Given the description of an element on the screen output the (x, y) to click on. 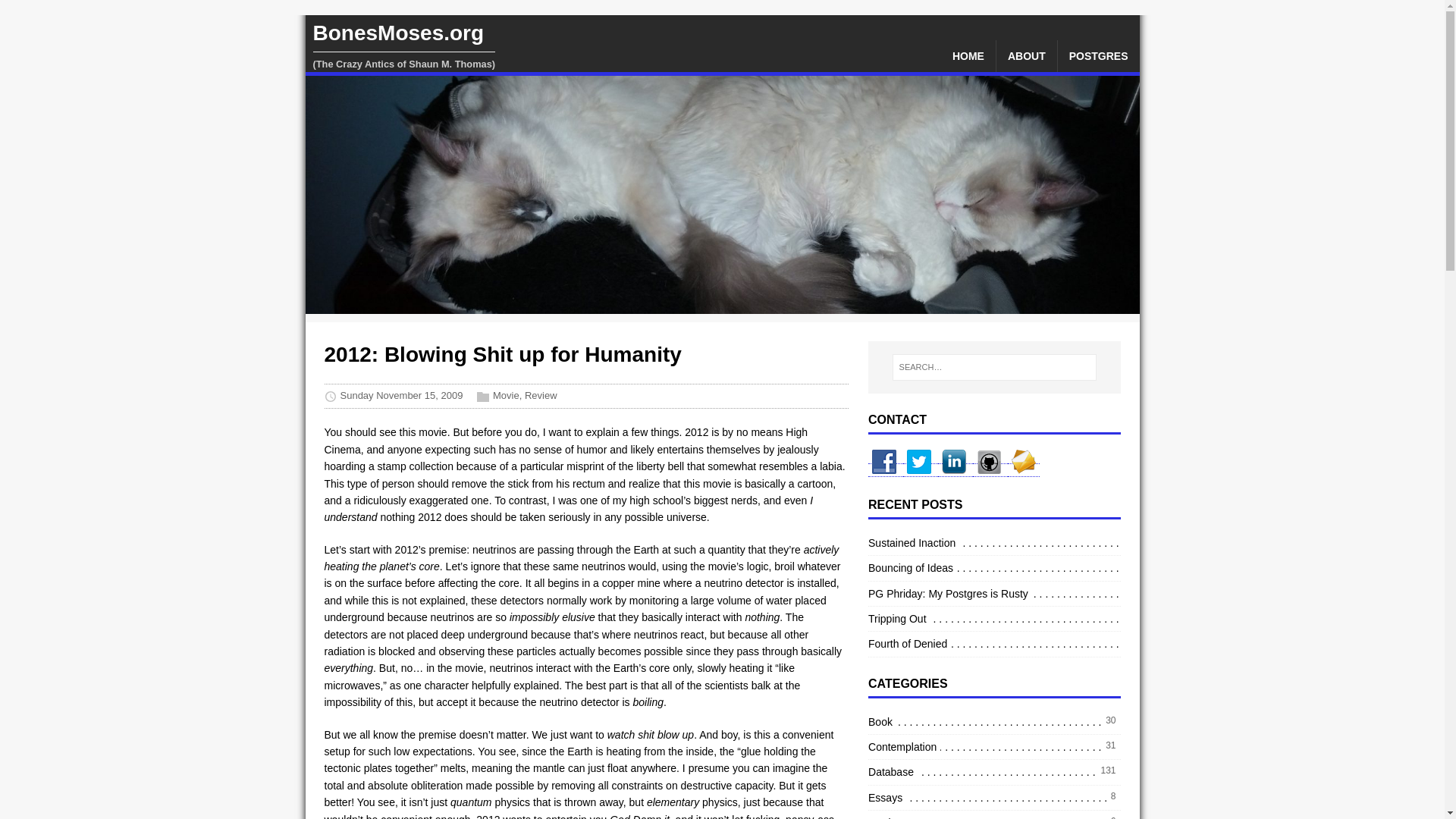
Movie (883, 816)
ABOUT (1026, 56)
Tripping Out (898, 618)
Email (1023, 469)
Search (56, 14)
Database (892, 771)
HOME (967, 56)
Sustained Inaction (913, 542)
Book (881, 721)
PG Phriday: My Postgres is Rusty (948, 593)
